Given the description of an element on the screen output the (x, y) to click on. 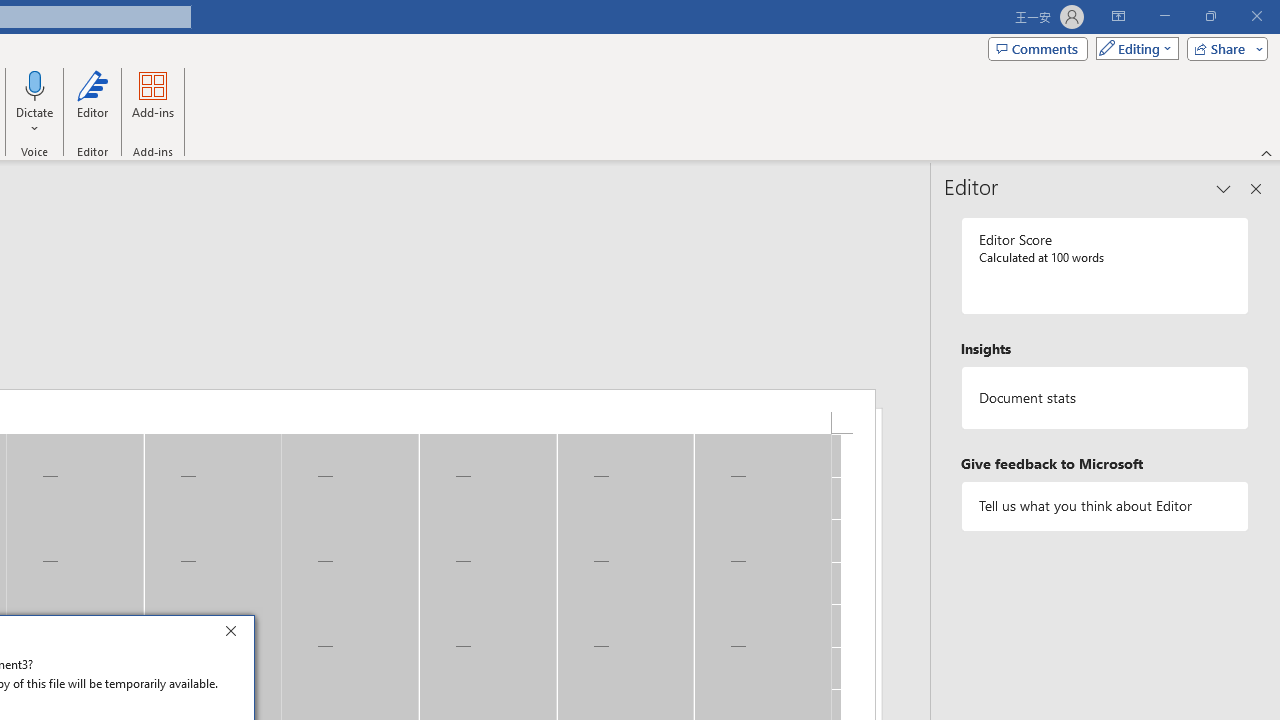
Tell us what you think about Editor (1105, 506)
Mode (1133, 47)
